Given the description of an element on the screen output the (x, y) to click on. 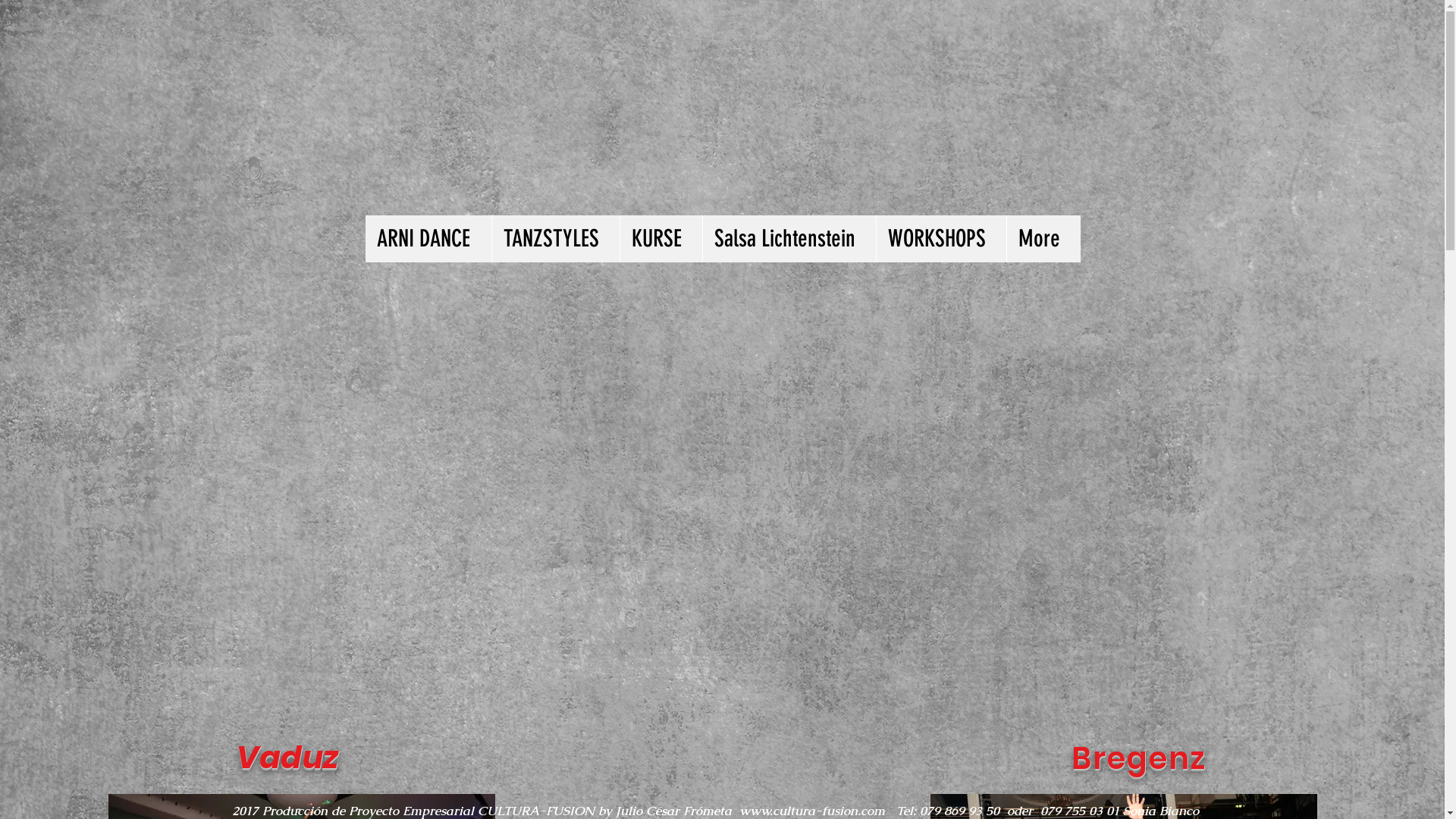
KURSE Element type: text (659, 238)
ARNI DANCE Element type: text (428, 238)
Salsa Lichtenstein Element type: text (788, 238)
WORKSHOPS Element type: text (940, 238)
TANZSTYLES Element type: text (555, 238)
